Given the description of an element on the screen output the (x, y) to click on. 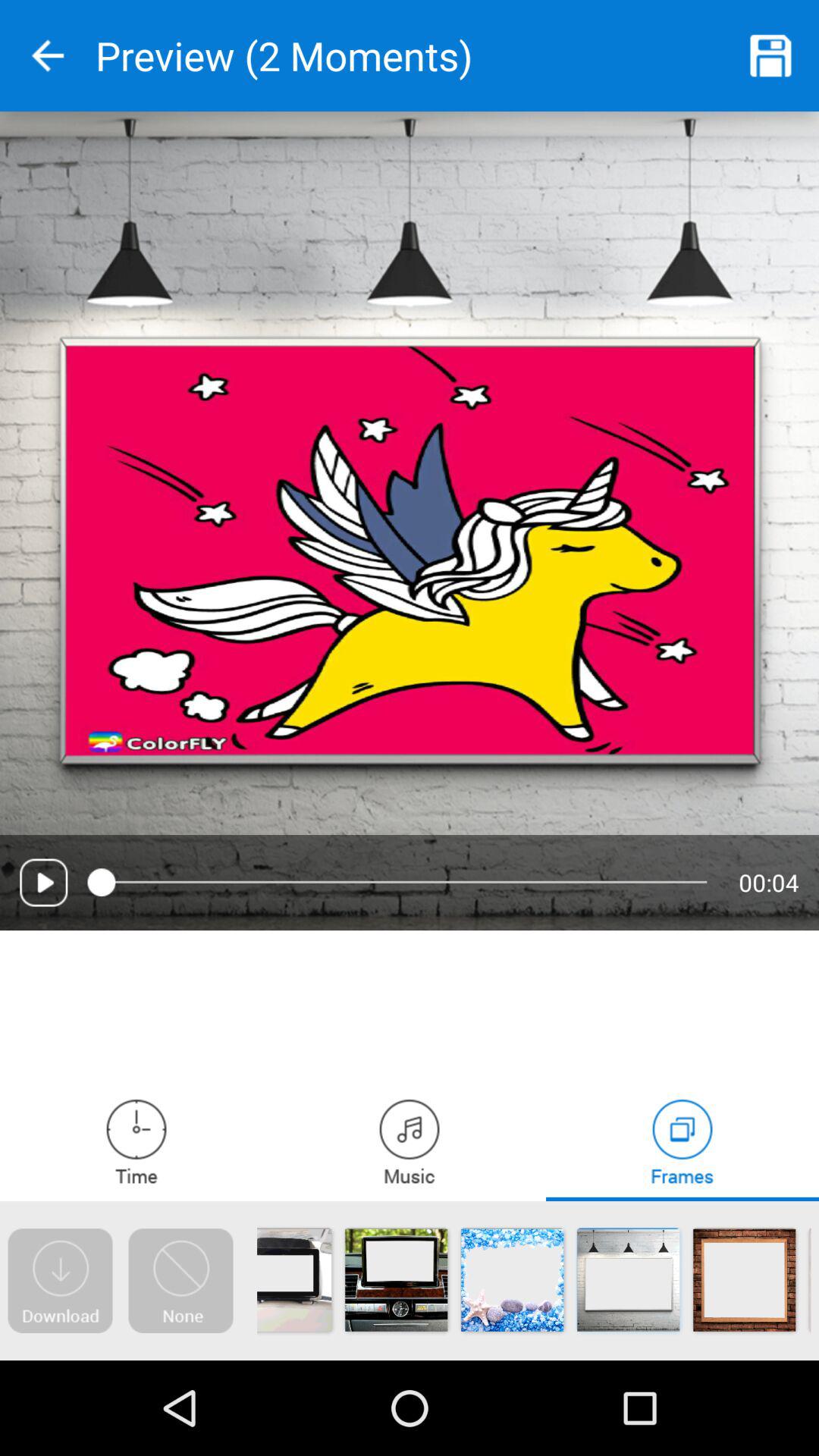
save (771, 55)
